Given the description of an element on the screen output the (x, y) to click on. 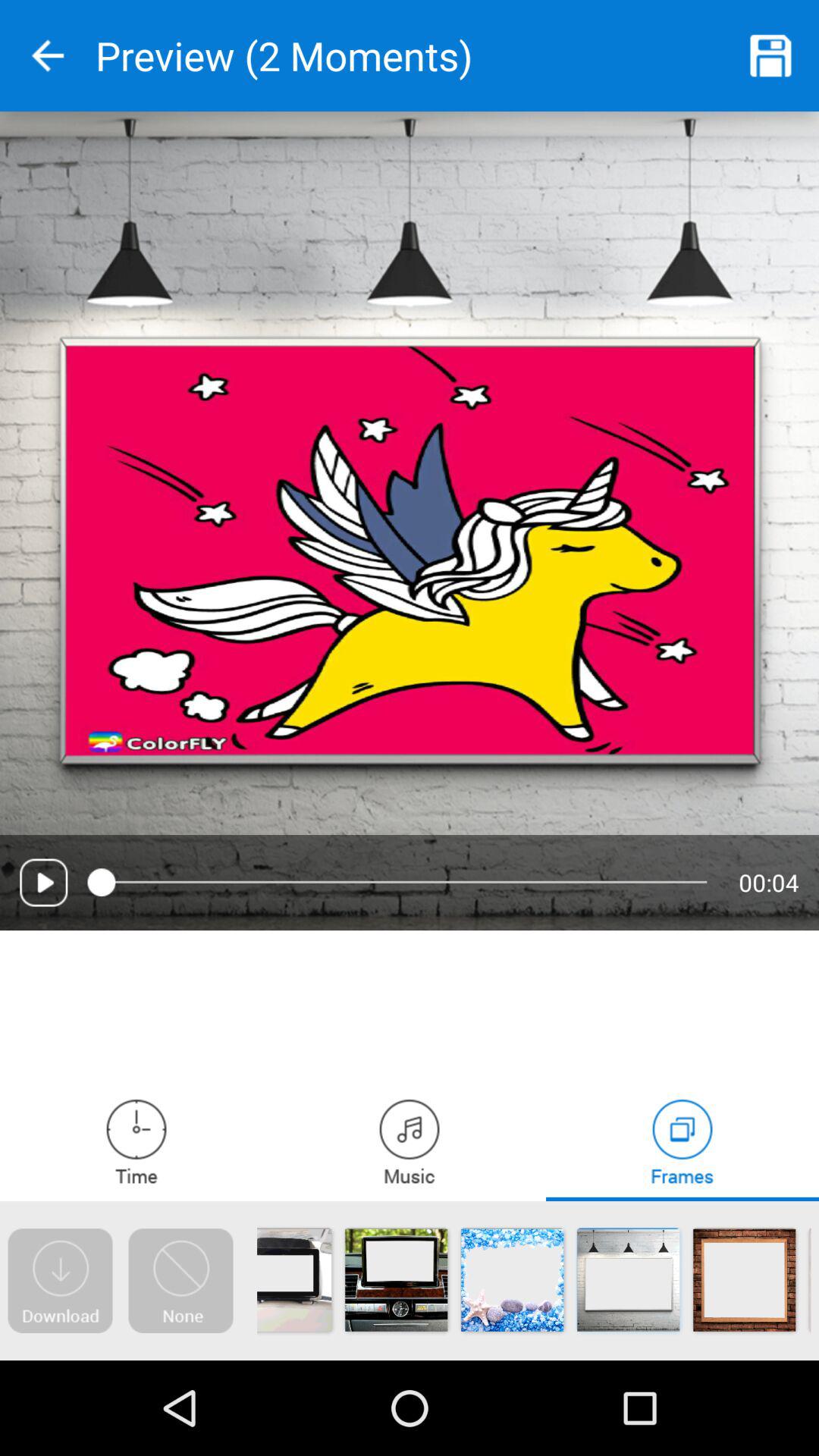
save (771, 55)
